Given the description of an element on the screen output the (x, y) to click on. 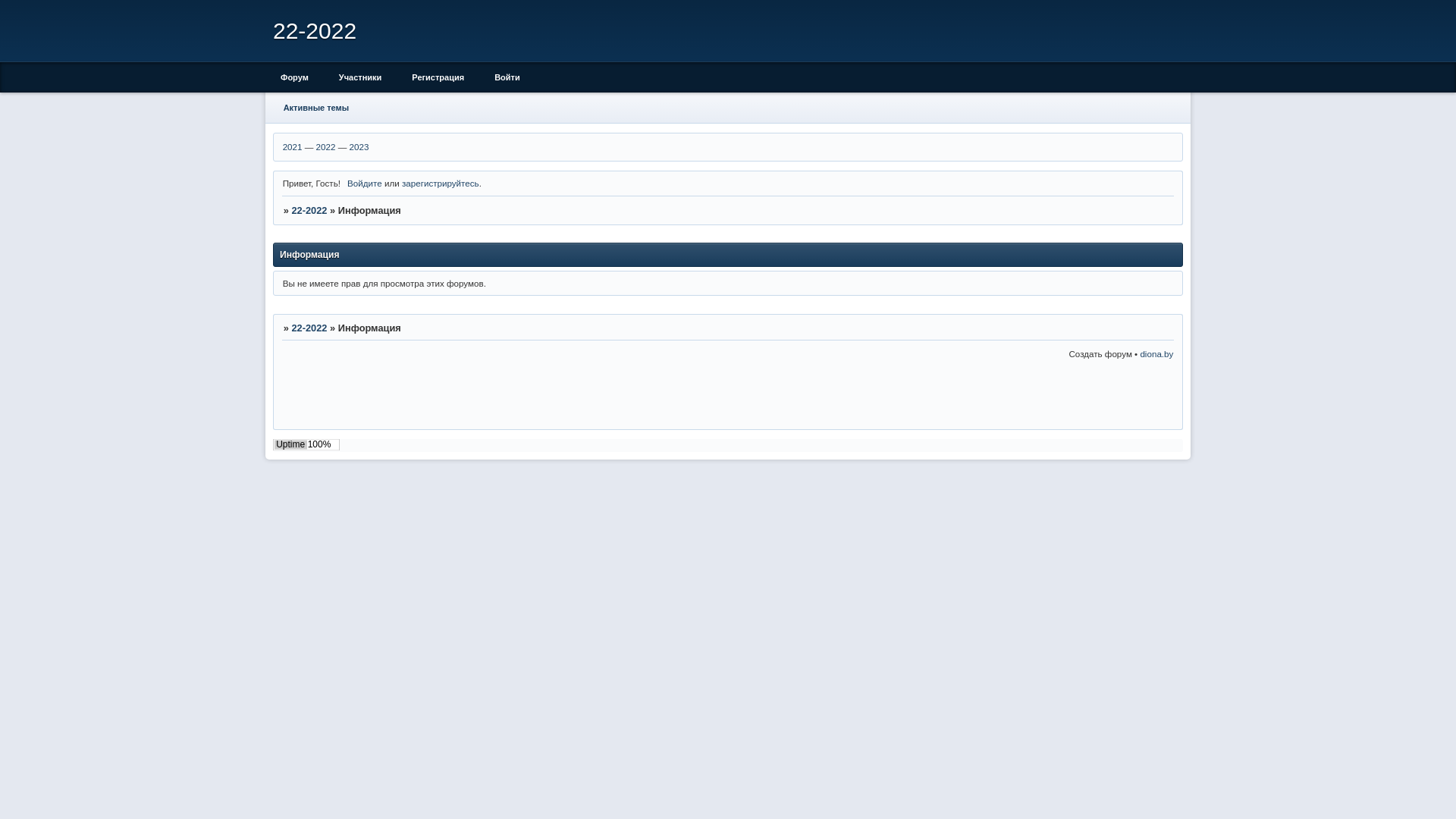
diona.by Element type: text (1156, 353)
2023 Element type: text (359, 146)
2022 Element type: text (325, 146)
2021 Element type: text (292, 146)
22-2022 Element type: text (308, 210)
22-2022 Element type: text (308, 327)
Advertisement Element type: hover (995, 395)
